Given the description of an element on the screen output the (x, y) to click on. 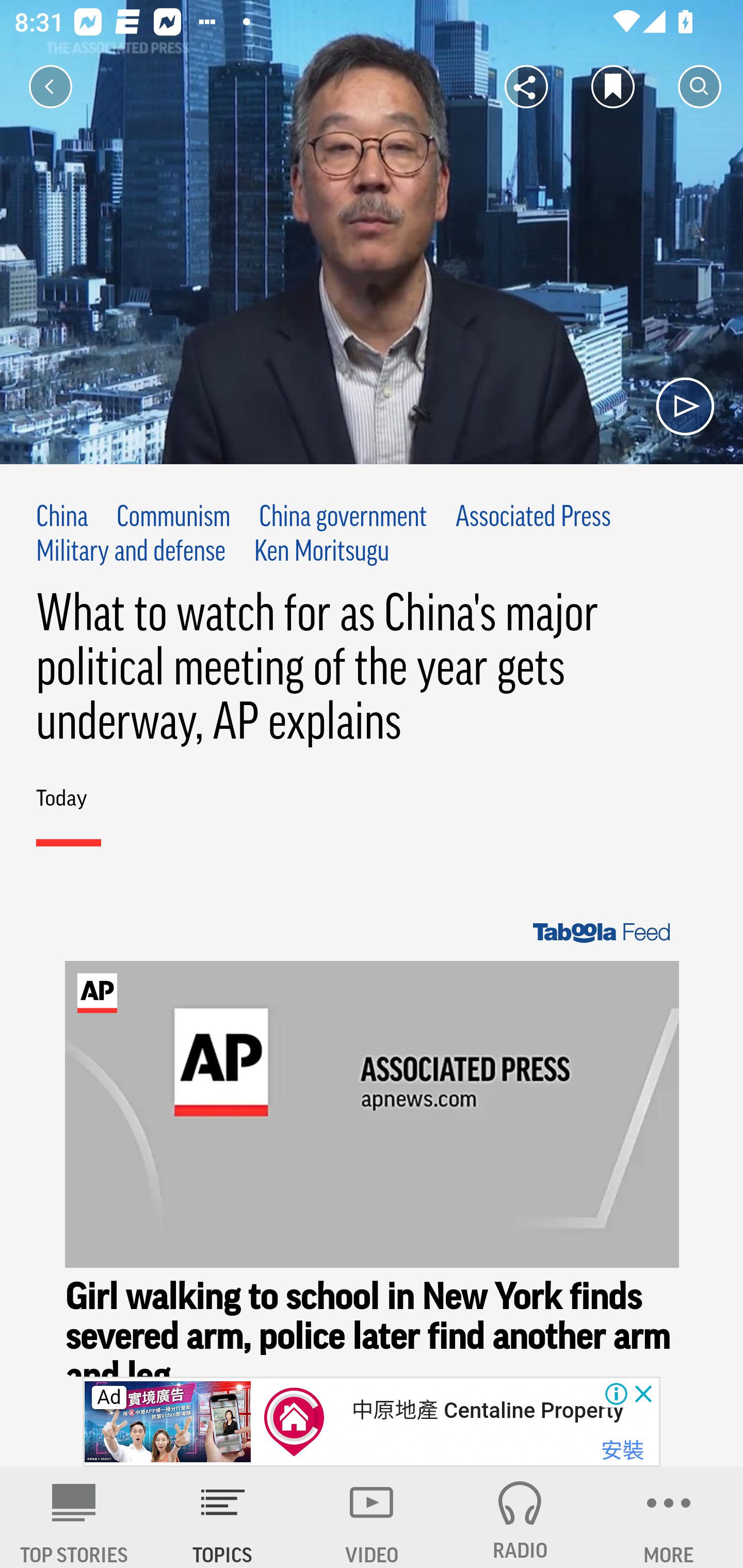
China (62, 518)
Communism (173, 518)
China government (342, 518)
Associated Press (533, 518)
Military and defense (131, 552)
Ken Moritsugu (321, 552)
中原地產 Centaline Property (486, 1410)
安裝 (621, 1444)
AP News TOP STORIES (74, 1517)
TOPICS (222, 1517)
VIDEO (371, 1517)
RADIO (519, 1517)
MORE (668, 1517)
